Given the description of an element on the screen output the (x, y) to click on. 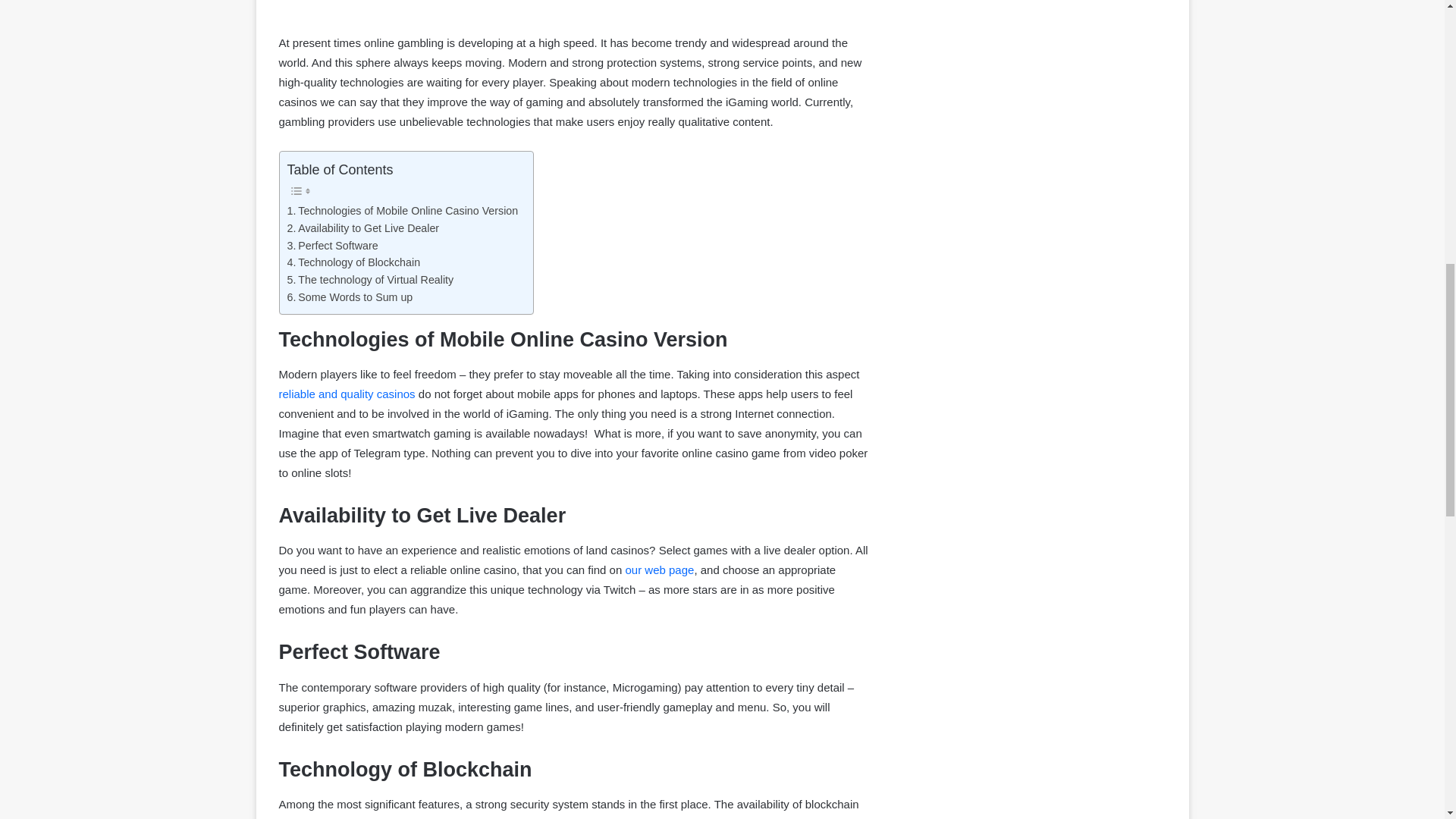
The technology of Virtual Reality (369, 280)
Some Words to Sum up (349, 297)
Technologies of Mobile Online Casino Version (402, 211)
reliable and quality casinos (346, 393)
Technology of Blockchain (353, 262)
Perfect Software (331, 245)
our web page (659, 569)
Availability to Get Live Dealer (362, 228)
